Given the description of an element on the screen output the (x, y) to click on. 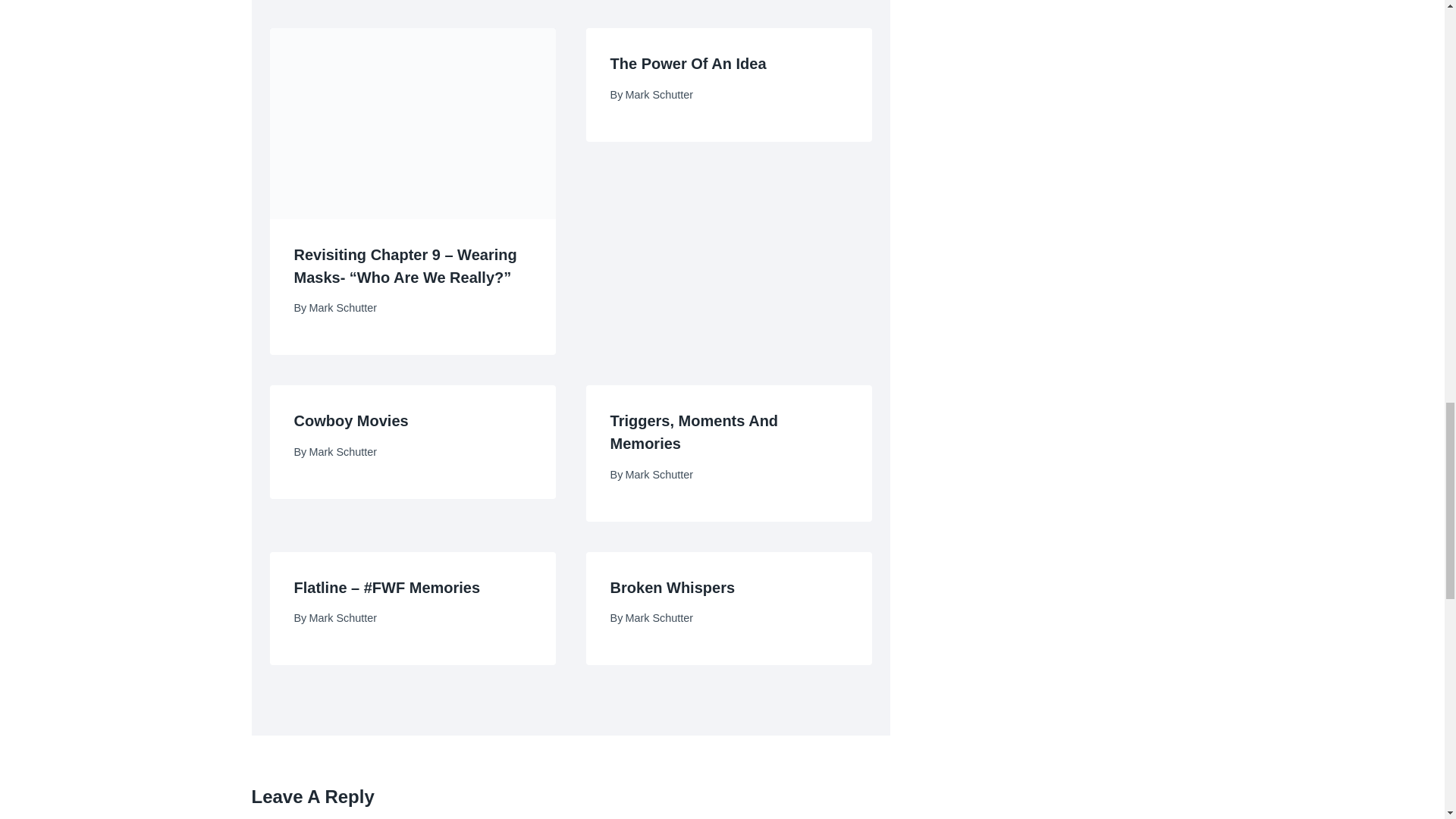
Mark Schutter (660, 94)
The Power Of An Idea (688, 63)
Mark Schutter (342, 307)
